Given the description of an element on the screen output the (x, y) to click on. 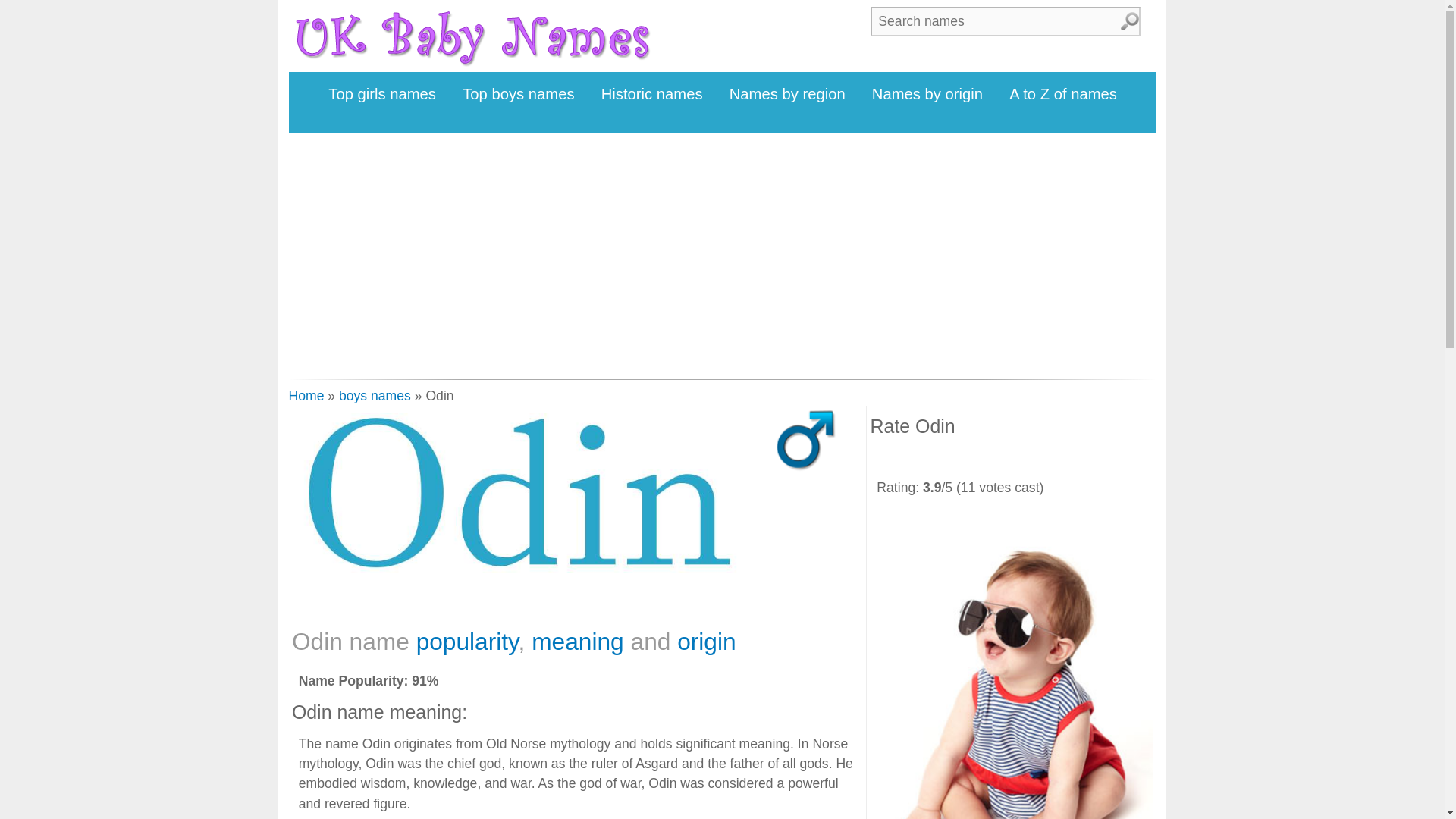
1 (881, 458)
Home (305, 395)
popularity (467, 641)
2 (904, 458)
4 (949, 458)
origin (706, 641)
Top girls names (382, 94)
Historic names (652, 94)
3 out of 5 (927, 458)
5 out of 5 (972, 458)
